Given the description of an element on the screen output the (x, y) to click on. 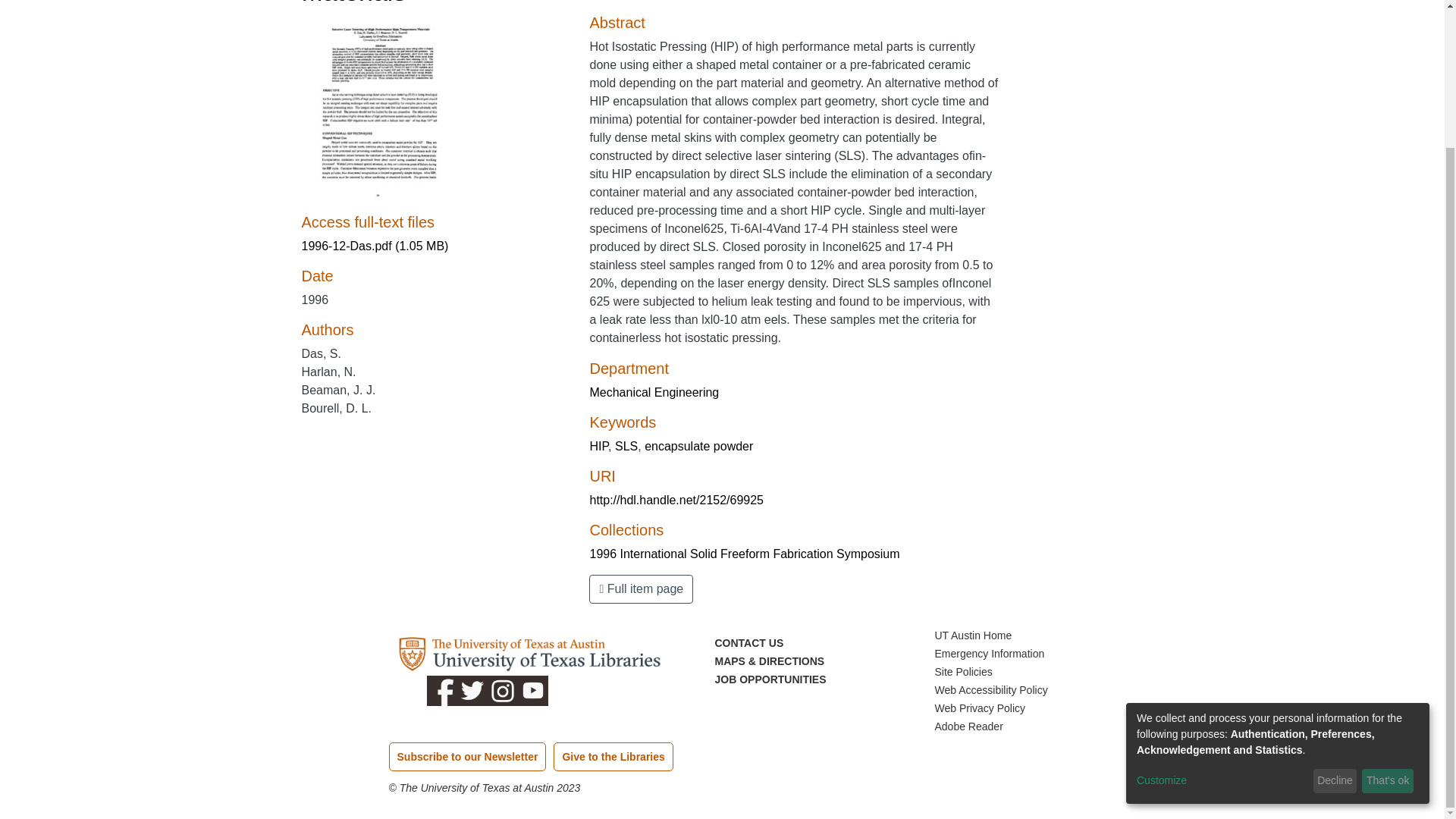
SLS (625, 445)
CONTACT US (748, 643)
JOB OPPORTUNITIES (769, 679)
HIP (598, 445)
Full item page (641, 588)
encapsulate powder (698, 445)
UT Austin Home (972, 635)
1996 International Solid Freeform Fabrication Symposium (744, 553)
Mechanical Engineering (654, 391)
